Given the description of an element on the screen output the (x, y) to click on. 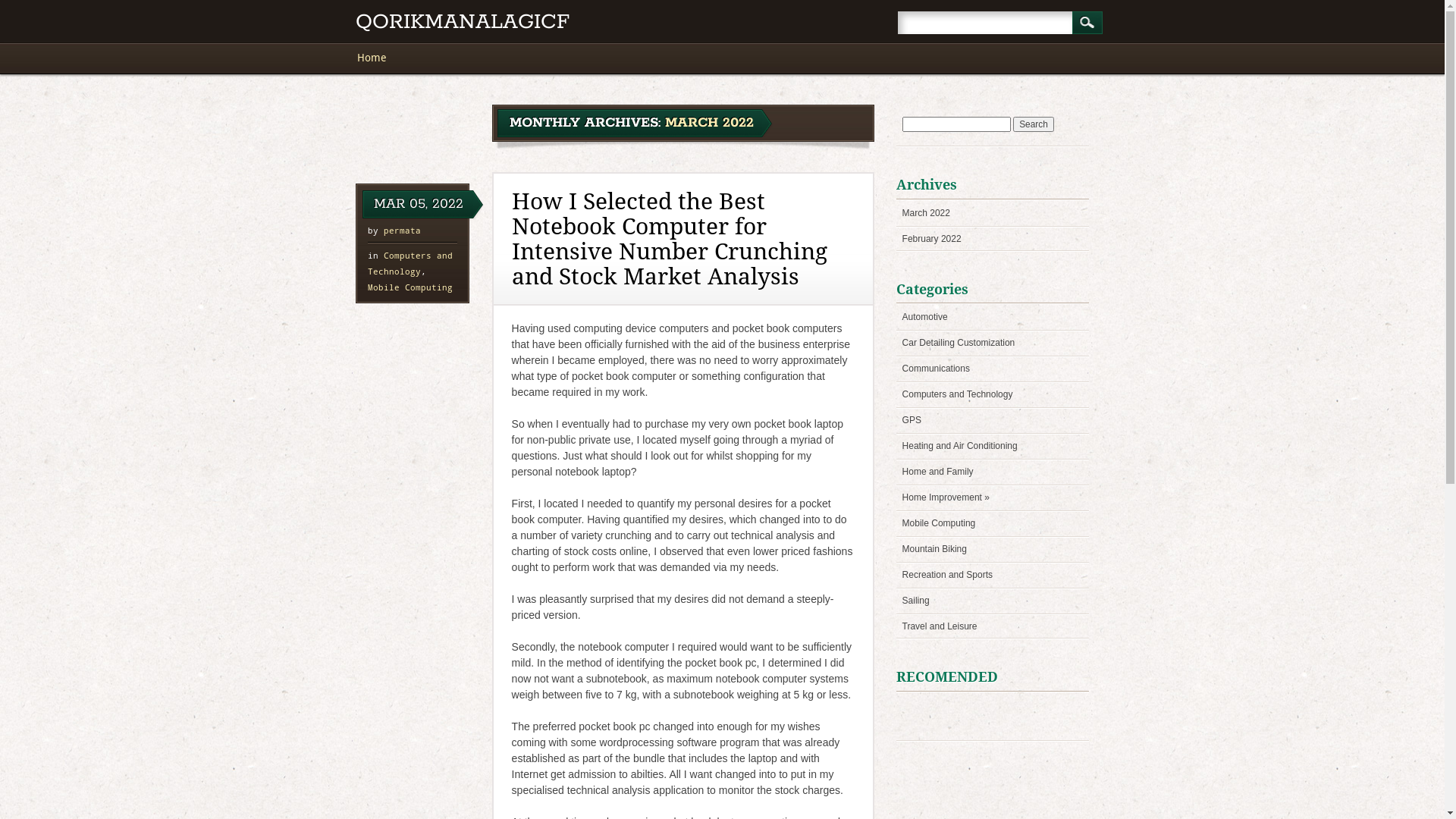
Sailing Element type: text (915, 600)
Mountain Biking Element type: text (934, 548)
Search Element type: text (1087, 22)
GPS Element type: text (911, 419)
Mobile Computing Element type: text (938, 522)
MAR 05, 2022 Element type: text (418, 203)
Search Element type: text (1033, 123)
Home Element type: text (378, 57)
February 2022 Element type: text (931, 238)
Car Detailing Customization Element type: text (958, 342)
Computers and Technology Element type: text (957, 394)
QORIKMANALAGICF Element type: text (462, 22)
Communications Element type: text (935, 368)
Automotive Element type: text (924, 316)
Skip to content Element type: text (390, 49)
permata Element type: text (401, 229)
Travel and Leisure Element type: text (939, 626)
Heating and Air Conditioning Element type: text (959, 445)
Recreation and Sports Element type: text (947, 574)
Home and Family Element type: text (937, 471)
Mobile Computing Element type: text (409, 286)
Computers and Technology Element type: text (409, 262)
March 2022 Element type: text (926, 212)
